Given the description of an element on the screen output the (x, y) to click on. 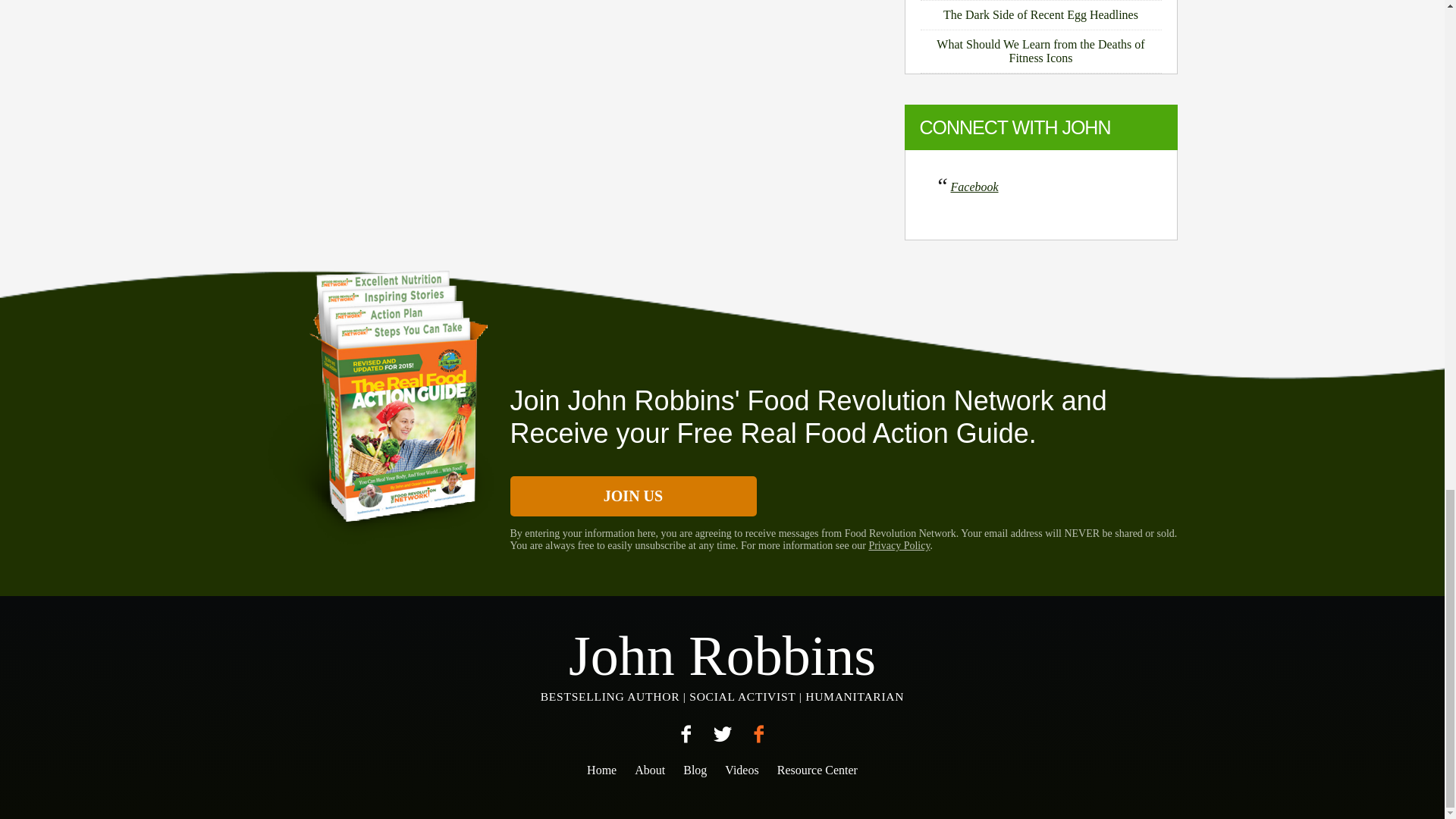
What Should We Learn from the Deaths of Fitness Icons (1040, 51)
Videos (741, 769)
About (649, 769)
Home (600, 769)
JOIN US (632, 495)
Facebook (974, 186)
The Dark Side of Recent Egg Headlines (1040, 15)
Privacy Policy (898, 545)
Resource Center (817, 769)
Blog (694, 769)
